Given the description of an element on the screen output the (x, y) to click on. 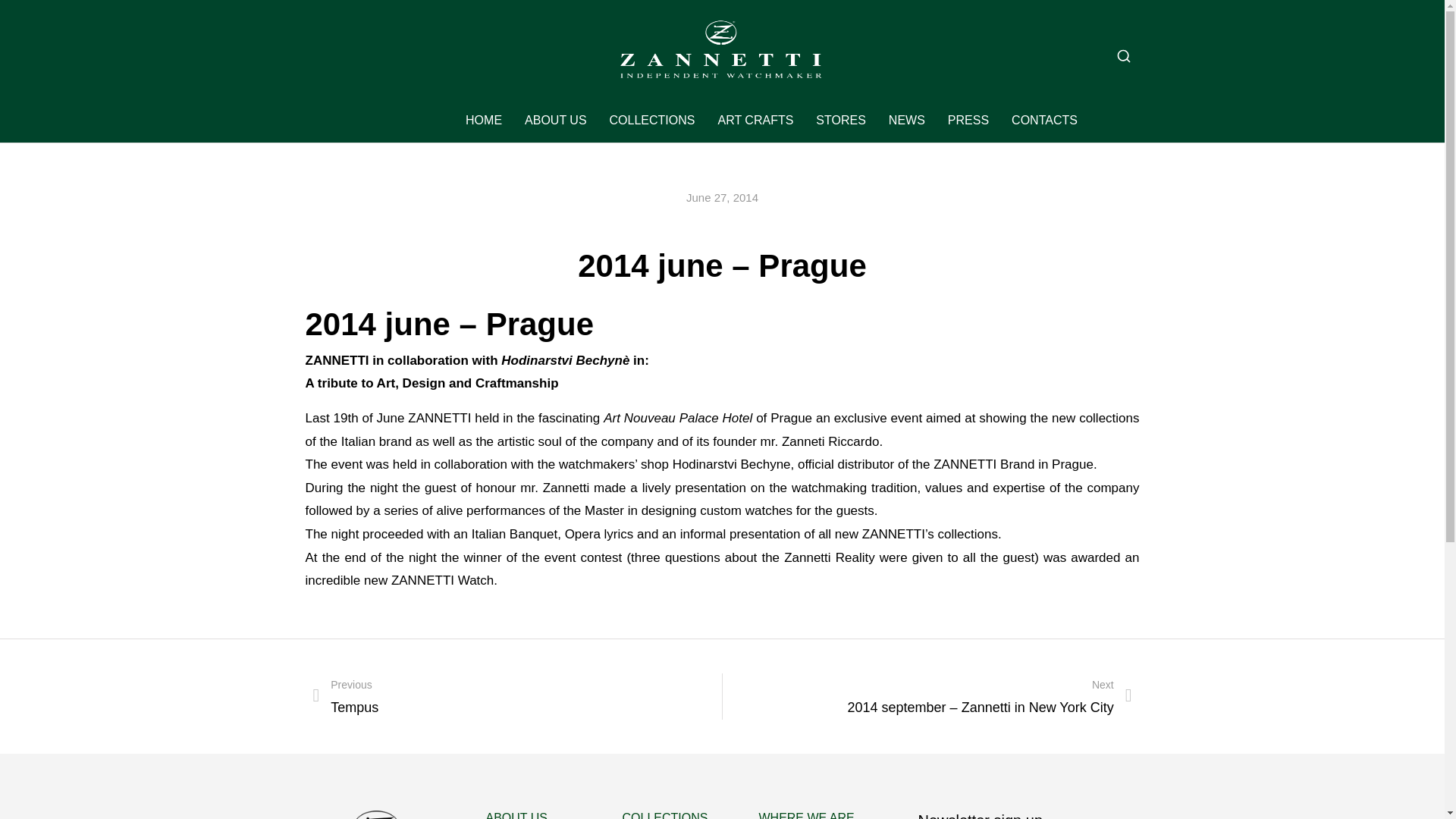
STORES (840, 120)
PRESS (967, 120)
NEWS (906, 120)
CONTACTS (1044, 120)
ART CRAFTS (755, 120)
HOME (483, 120)
ABOUT US (555, 120)
COLLECTIONS (652, 120)
